Given the description of an element on the screen output the (x, y) to click on. 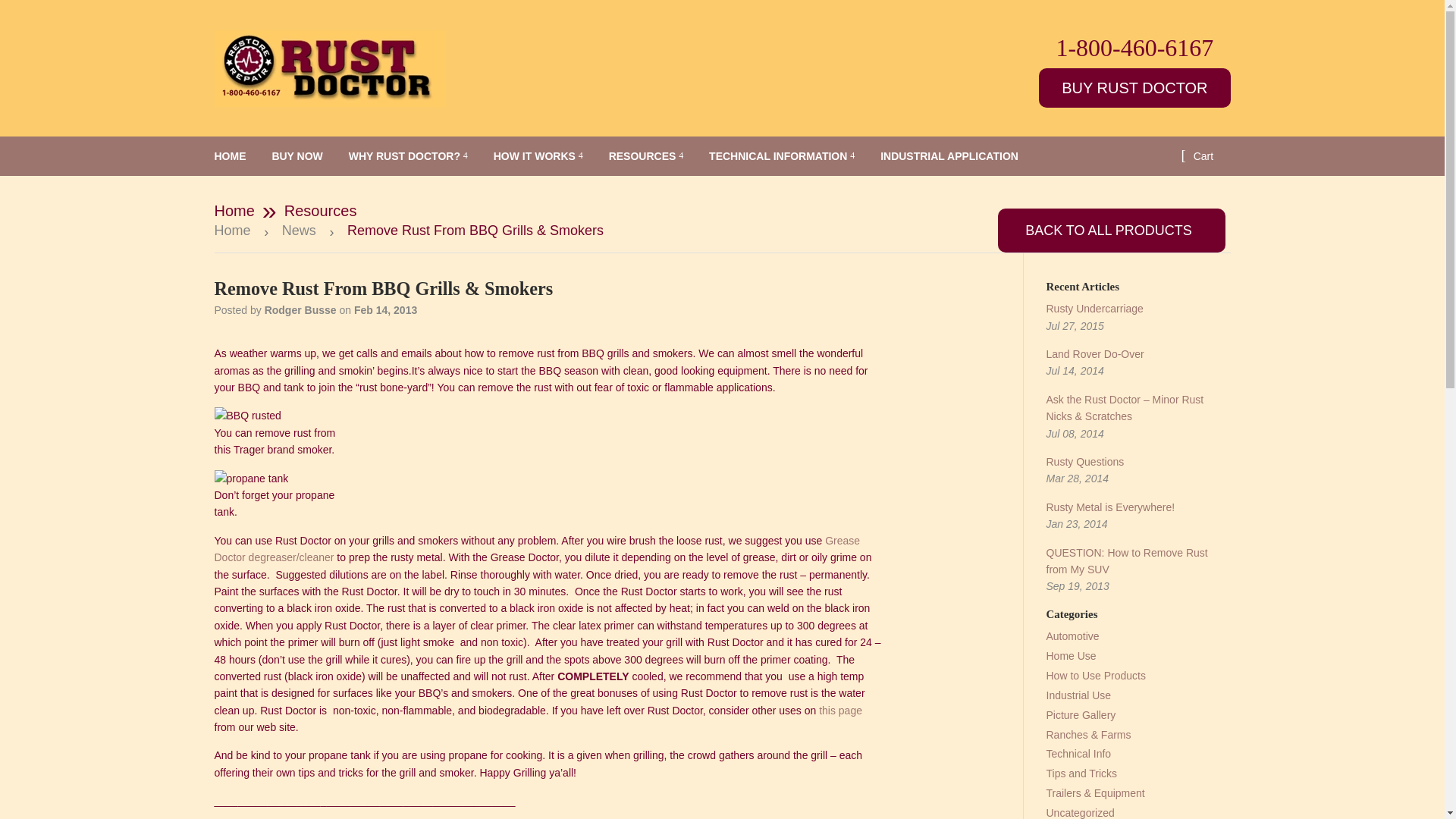
BACK TO ALL PRODUCTS (1111, 230)
WHY RUST DOCTOR? (408, 156)
TECHNICAL INFORMATION (781, 156)
HOW IT WORKS (537, 156)
INDUSTRIAL APPLICATION (949, 156)
BUY RUST DOCTOR (1134, 87)
Show articles tagged Automotive (1072, 635)
HOME (230, 156)
Show articles tagged Industrial Use (1079, 695)
Show articles tagged Technical Info (1079, 753)
Show articles tagged Home Use (1071, 655)
this page (839, 710)
Home (235, 230)
Show articles tagged Tips and Tricks (1082, 773)
BUY NOW (296, 156)
